Given the description of an element on the screen output the (x, y) to click on. 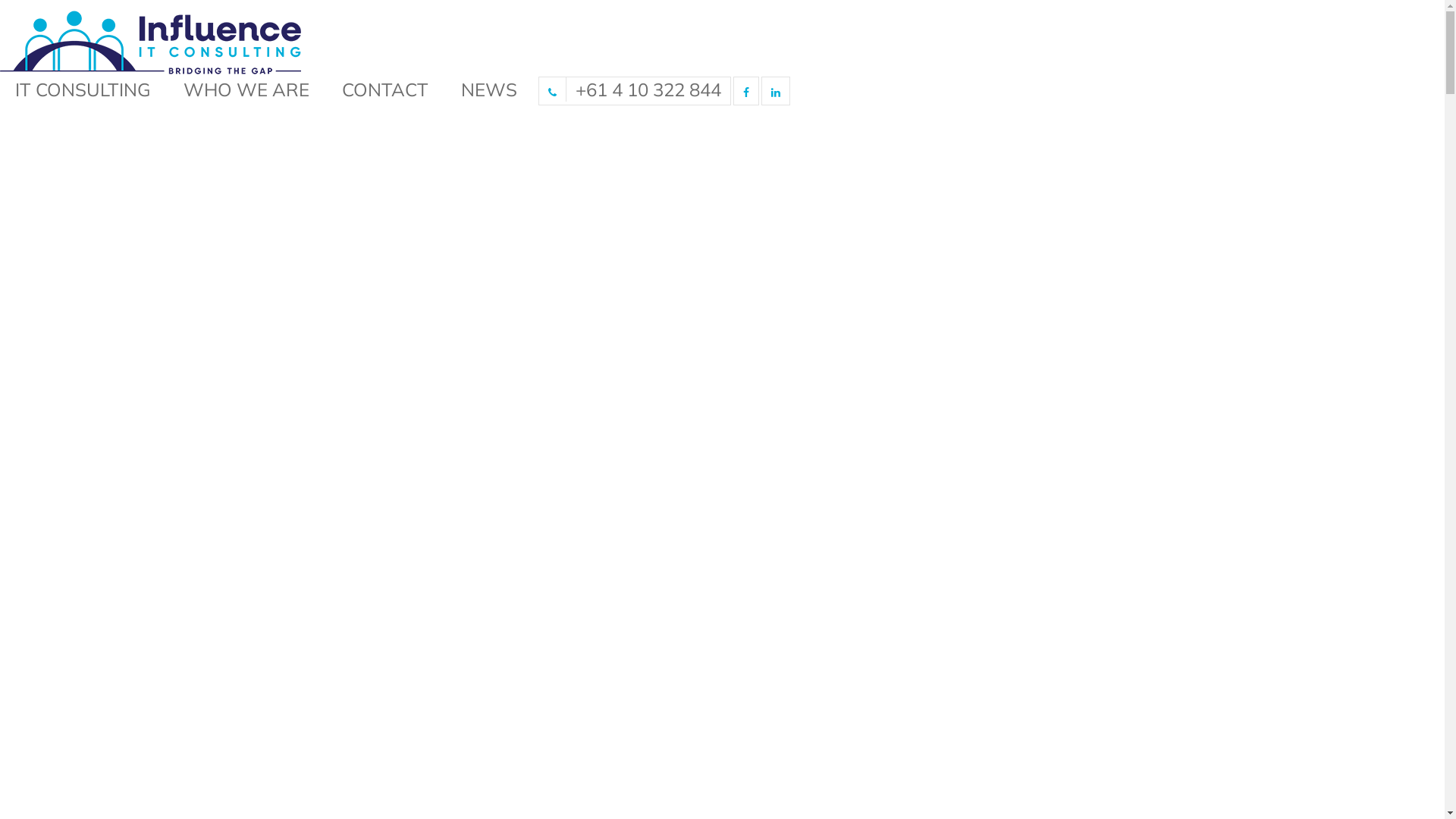
+61 4 10 322 844 Element type: text (634, 89)
NEWS Element type: text (489, 89)
WHO WE ARE Element type: text (246, 89)
IT CONSULTING Element type: text (82, 89)
Influence IT Consulting Element type: hover (150, 43)
CONTACT Element type: text (385, 89)
